Given the description of an element on the screen output the (x, y) to click on. 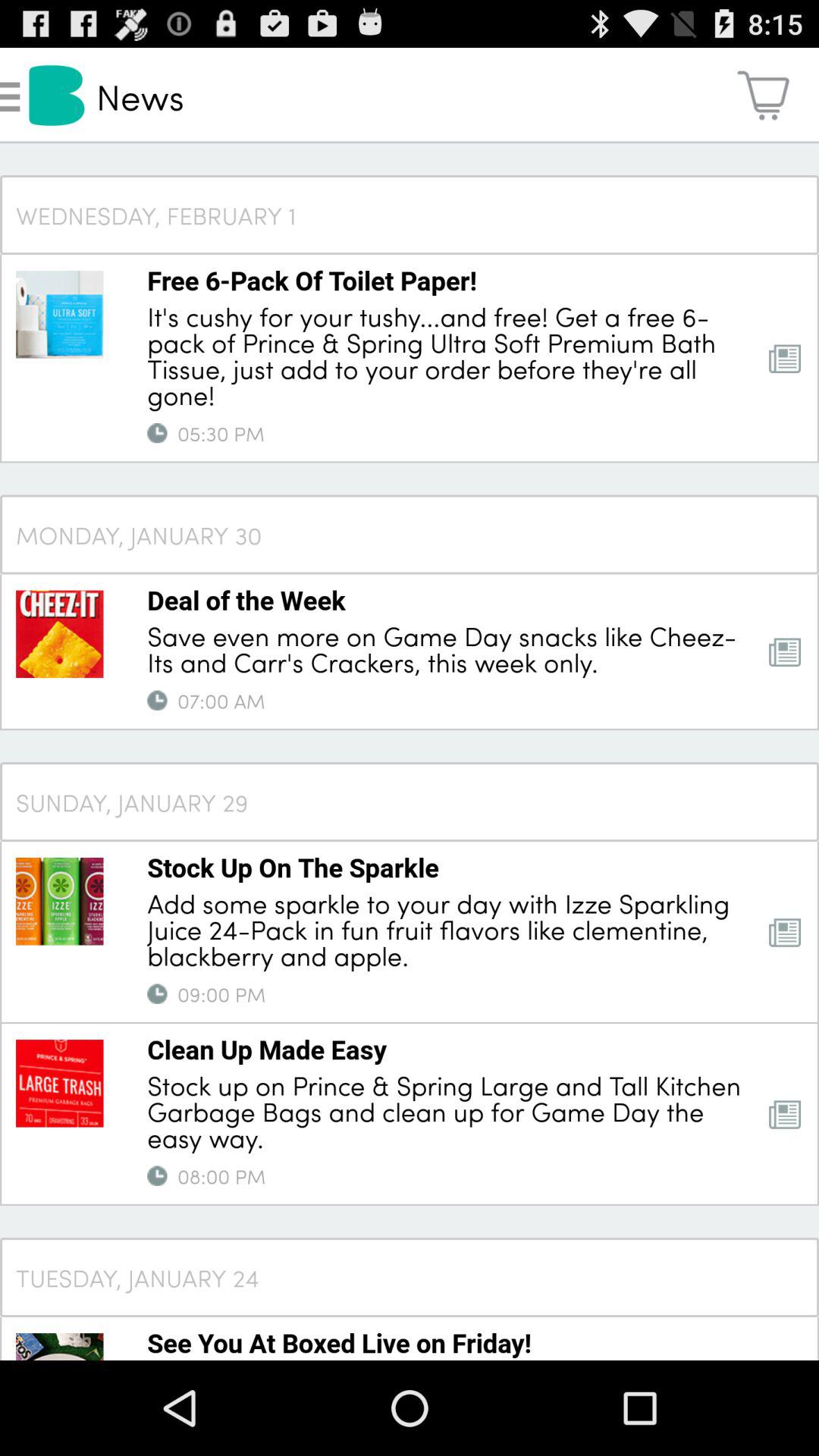
open the item below the deal of the icon (448, 648)
